Given the description of an element on the screen output the (x, y) to click on. 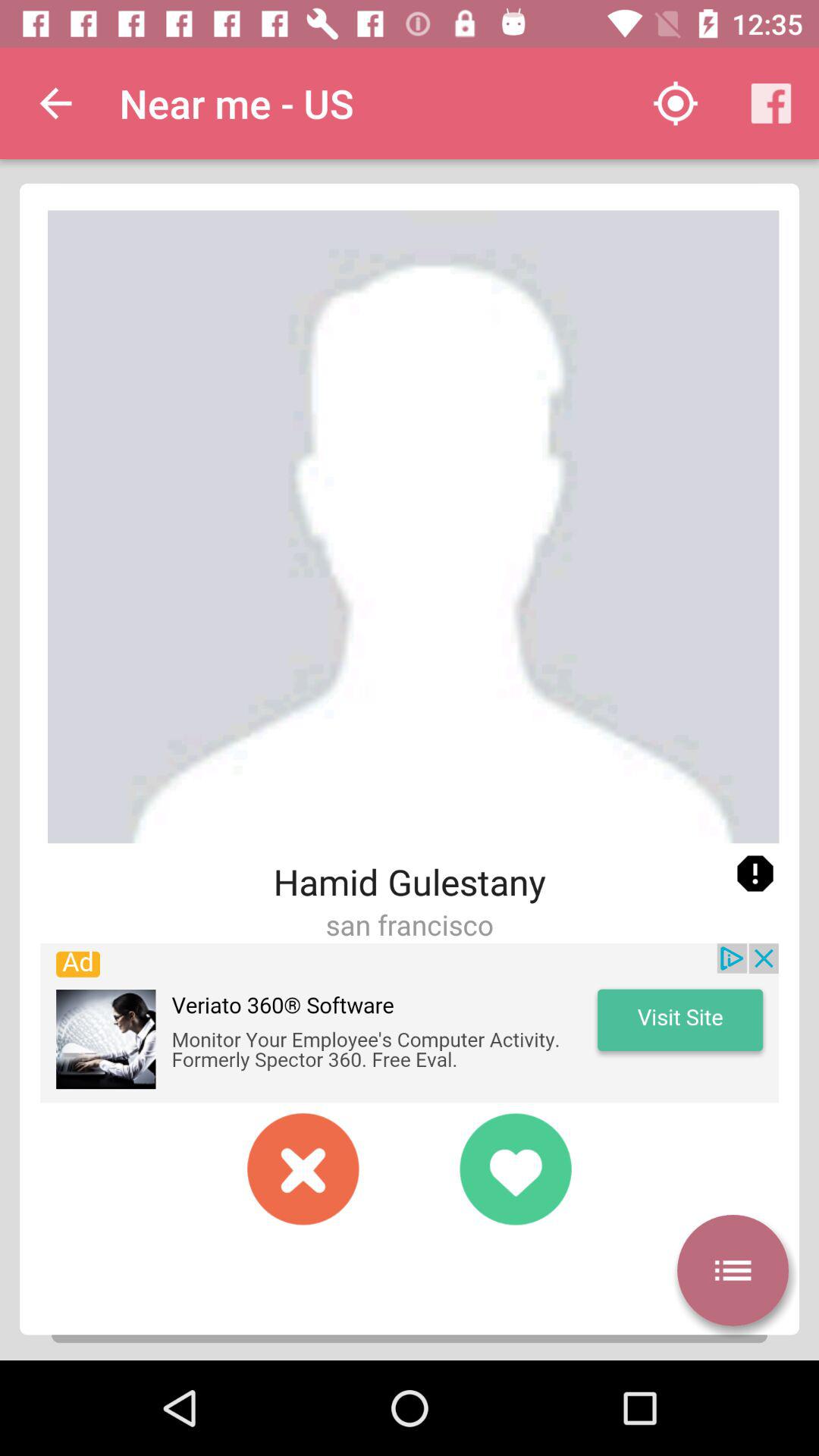
go to likes option (515, 1169)
